Given the description of an element on the screen output the (x, y) to click on. 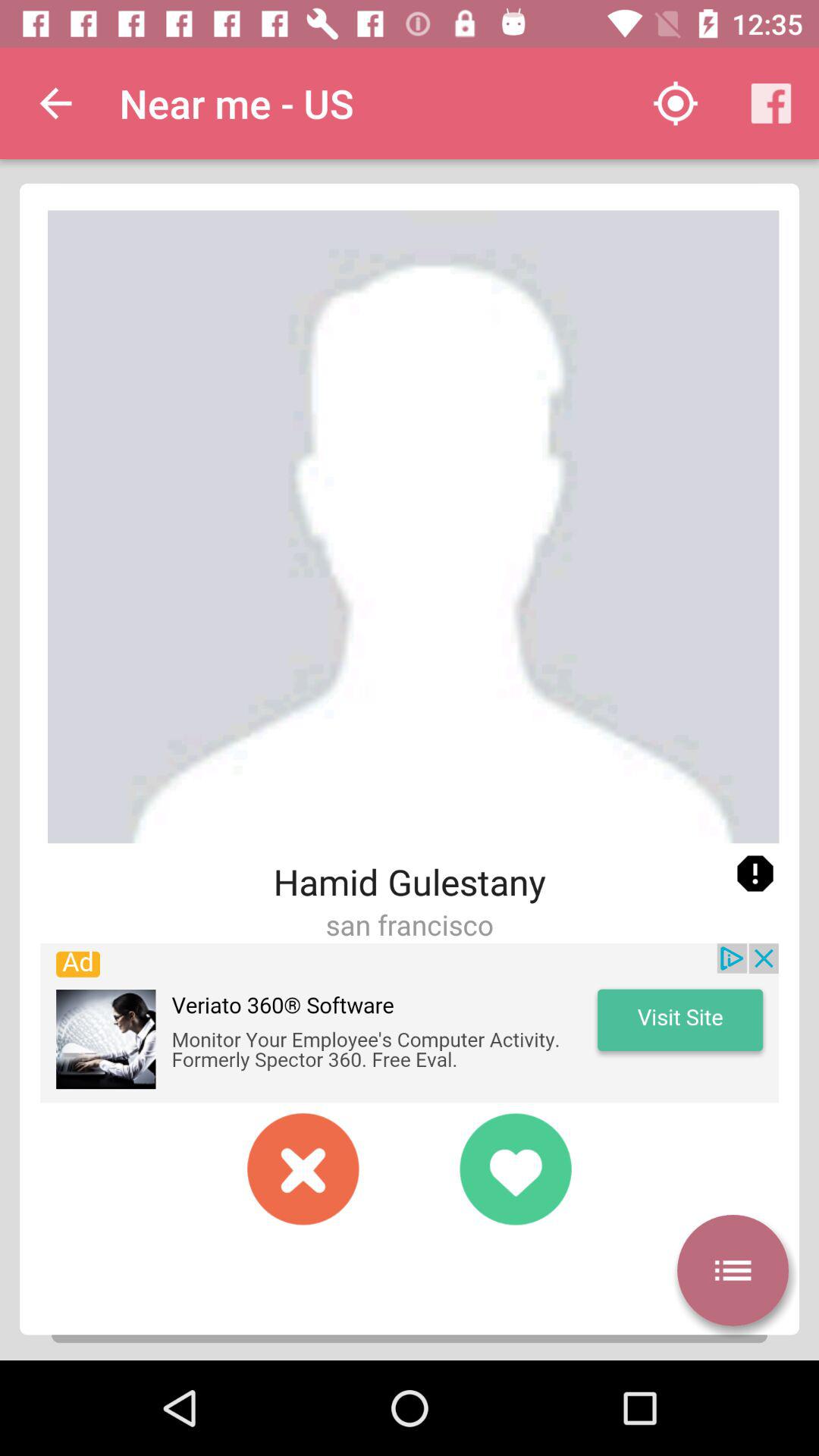
go to likes option (515, 1169)
